Given the description of an element on the screen output the (x, y) to click on. 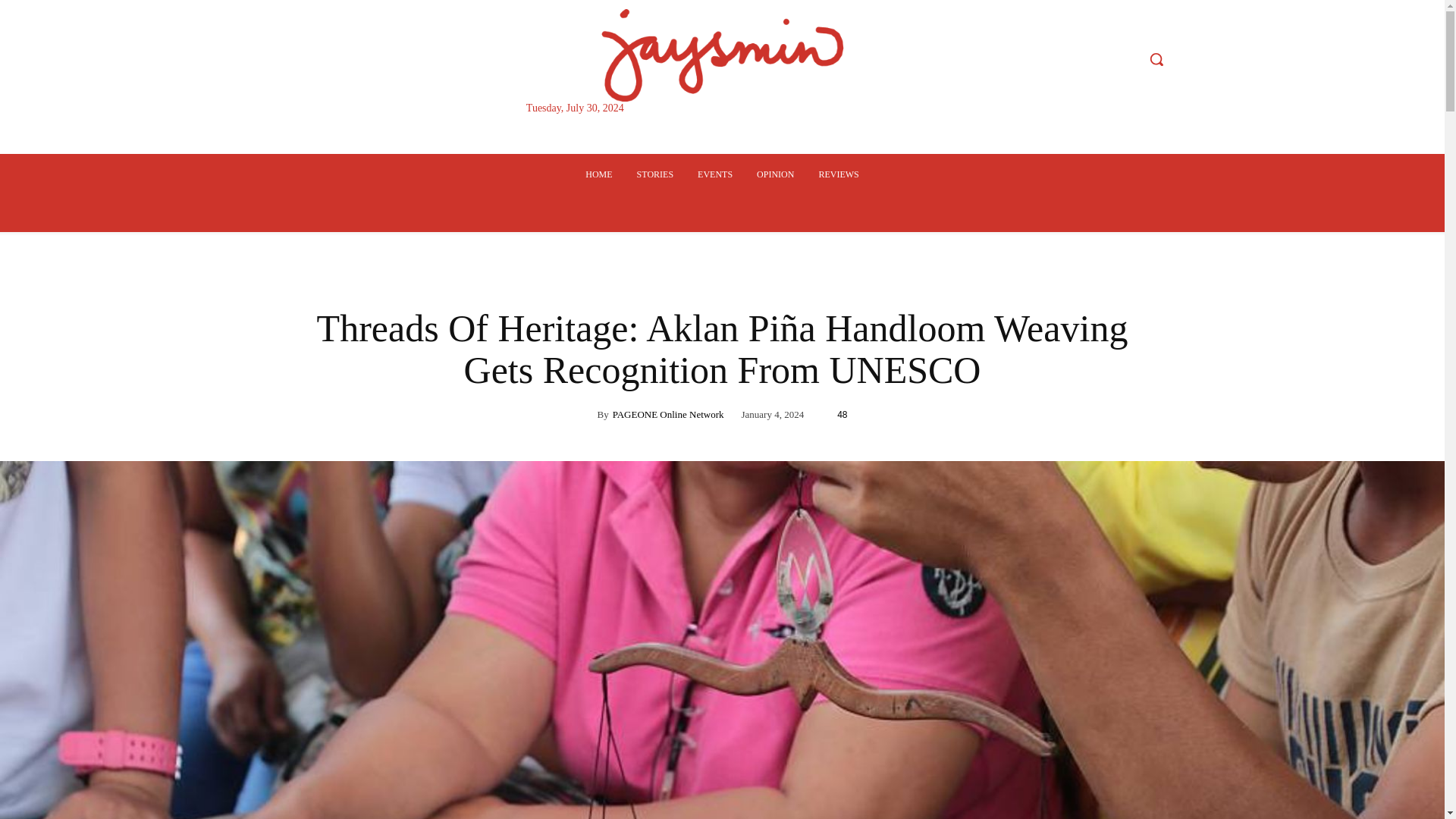
PAGEONE Online Network (667, 414)
OPINION (775, 174)
EVENTS (714, 174)
REVIEWS (838, 174)
STORIES (654, 174)
HOME (598, 174)
